Given the description of an element on the screen output the (x, y) to click on. 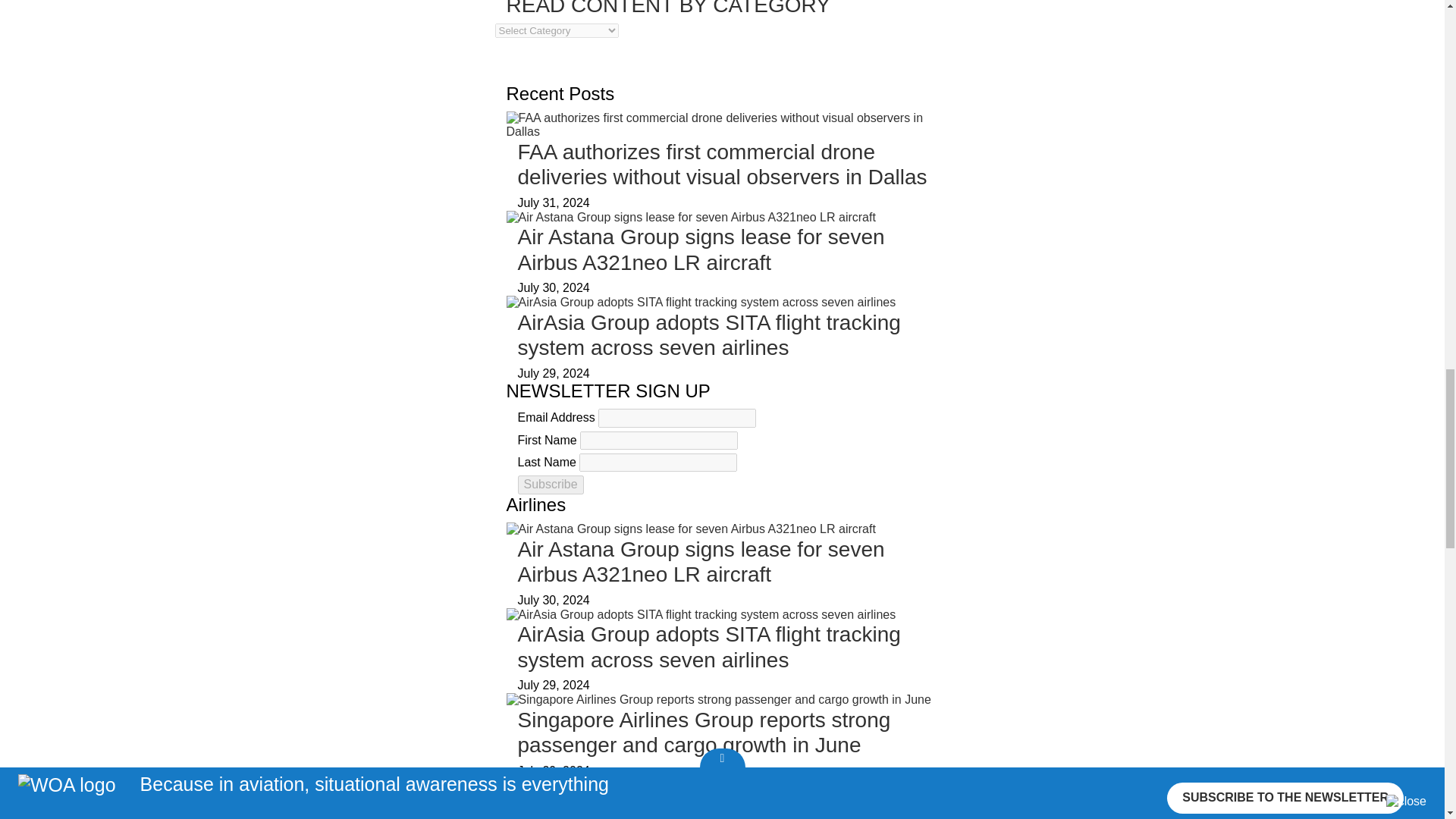
Subscribe (549, 484)
